Given the description of an element on the screen output the (x, y) to click on. 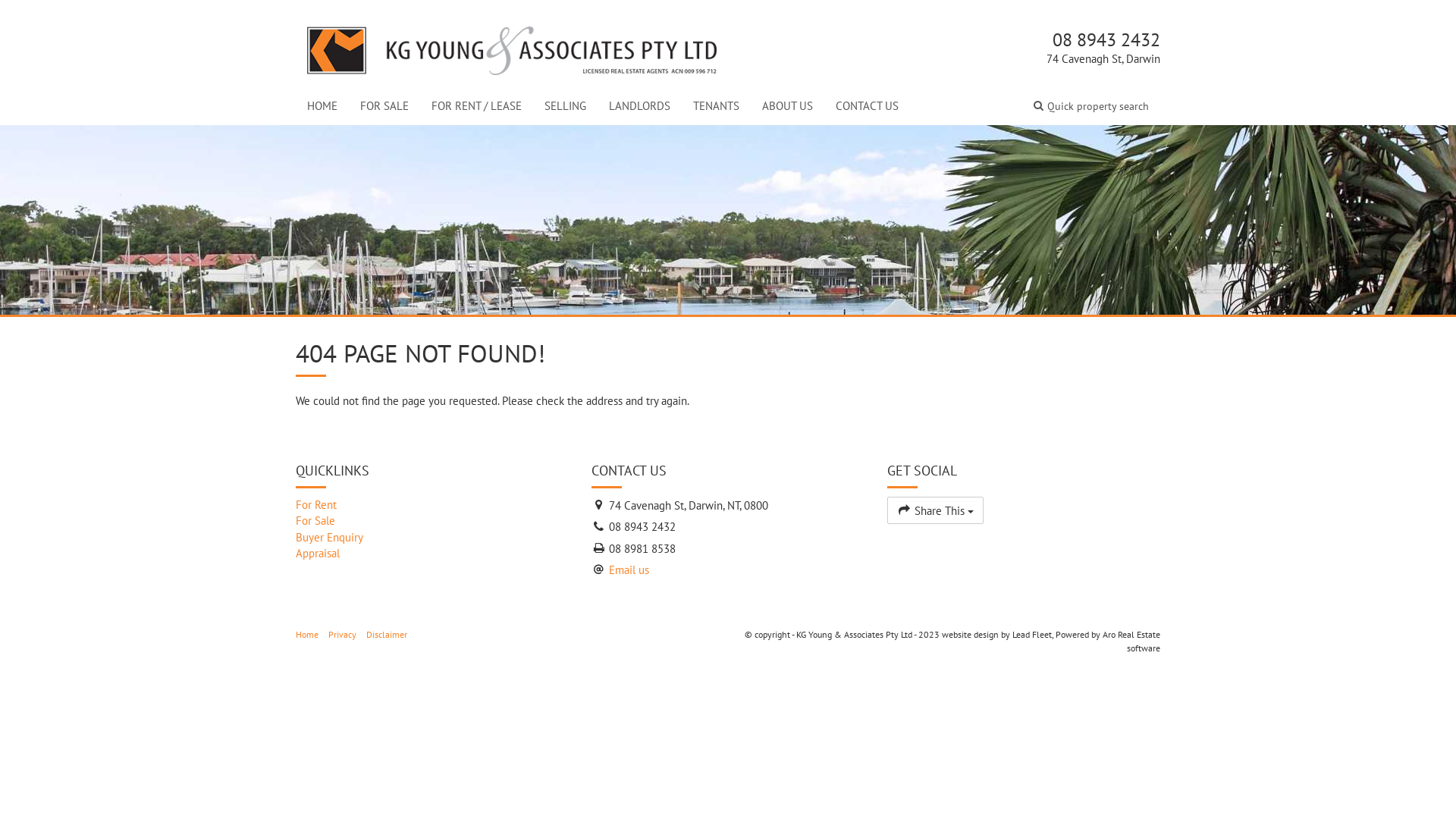
For Sale Element type: text (431, 520)
Email us Element type: text (628, 569)
FOR RENT / LEASE Element type: text (476, 105)
CONTACT US Element type: text (867, 105)
Lead Fleet Element type: text (1031, 634)
TENANTS Element type: text (715, 105)
HOME Element type: text (321, 105)
Home Element type: text (306, 634)
Disclaimer Element type: text (386, 634)
Privacy Element type: text (342, 634)
Buyer Enquiry Element type: text (431, 537)
SELLING Element type: text (565, 105)
Appraisal Element type: text (431, 553)
FOR SALE Element type: text (384, 105)
ABOUT US Element type: text (787, 105)
For Rent Element type: text (431, 504)
Share This Element type: text (935, 510)
LANDLORDS Element type: text (639, 105)
Quick property search Element type: text (1091, 105)
Aro Real Estate software Element type: text (1131, 640)
KG Young & Associates Pty Ltd Element type: hover (511, 47)
